Given the description of an element on the screen output the (x, y) to click on. 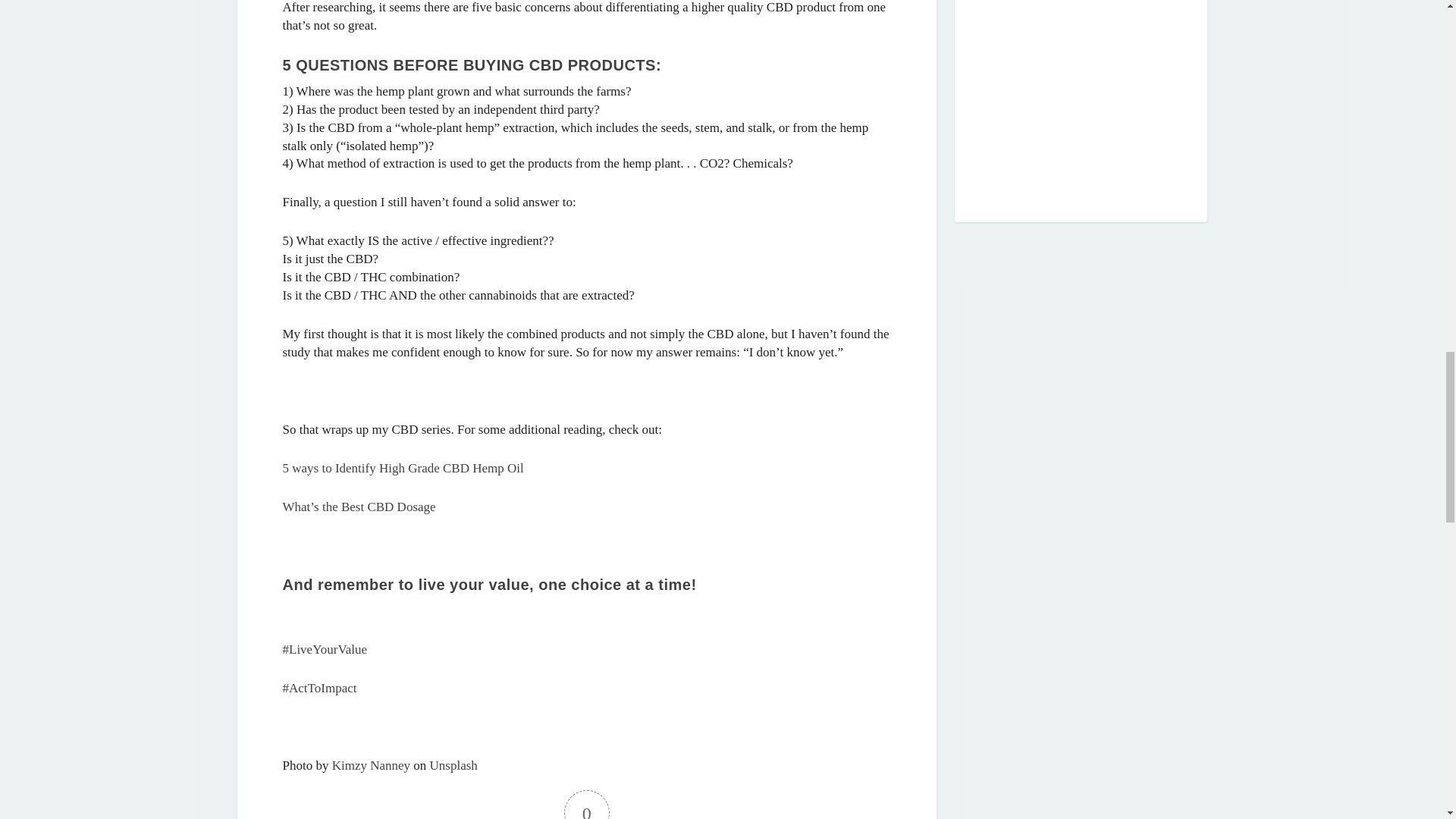
Kimzy Nanney (370, 765)
Unsplash (453, 765)
5 ways to Identify High Grade CBD Hemp Oil (402, 468)
